Given the description of an element on the screen output the (x, y) to click on. 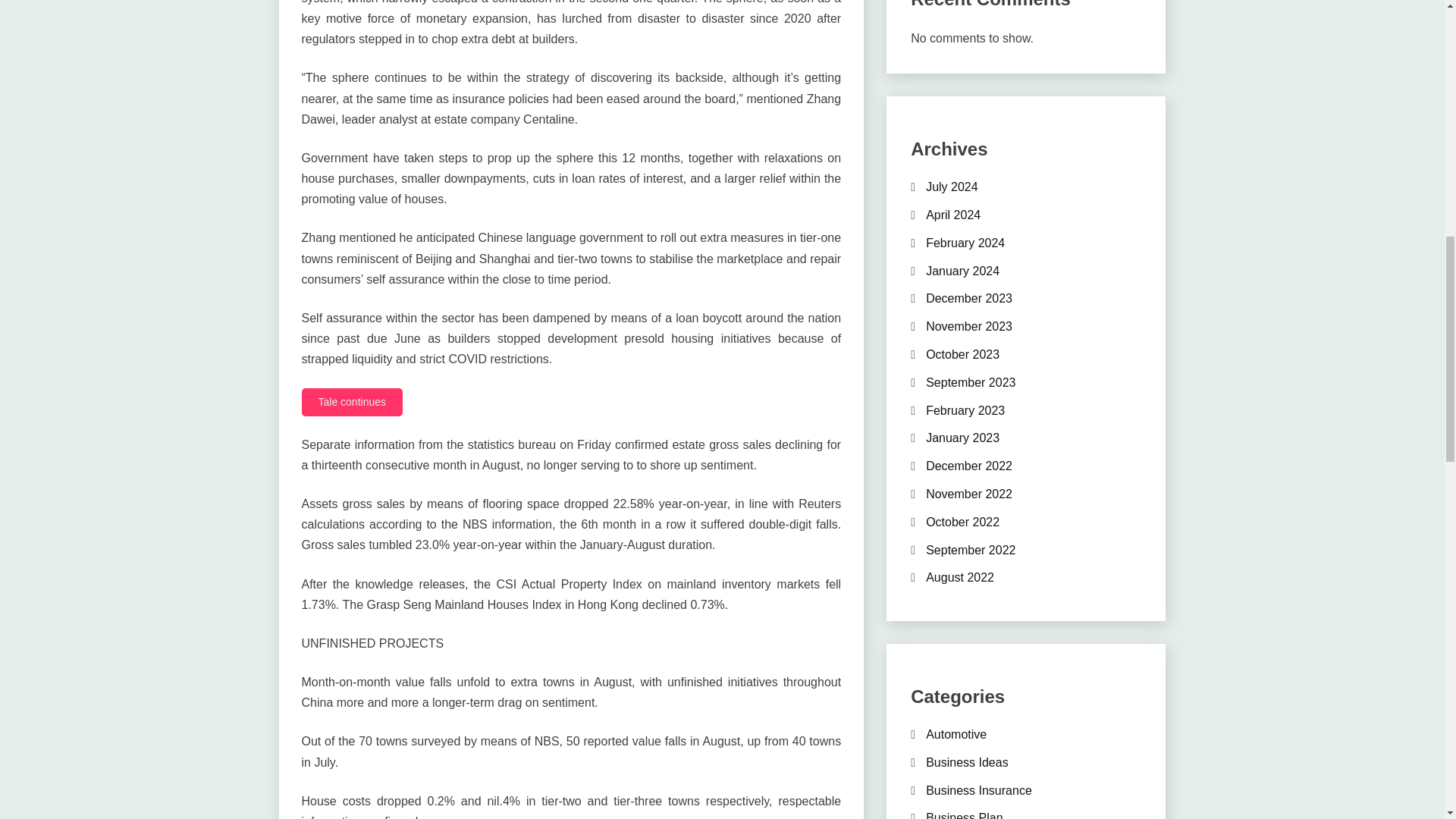
Tale continues (352, 402)
